Given the description of an element on the screen output the (x, y) to click on. 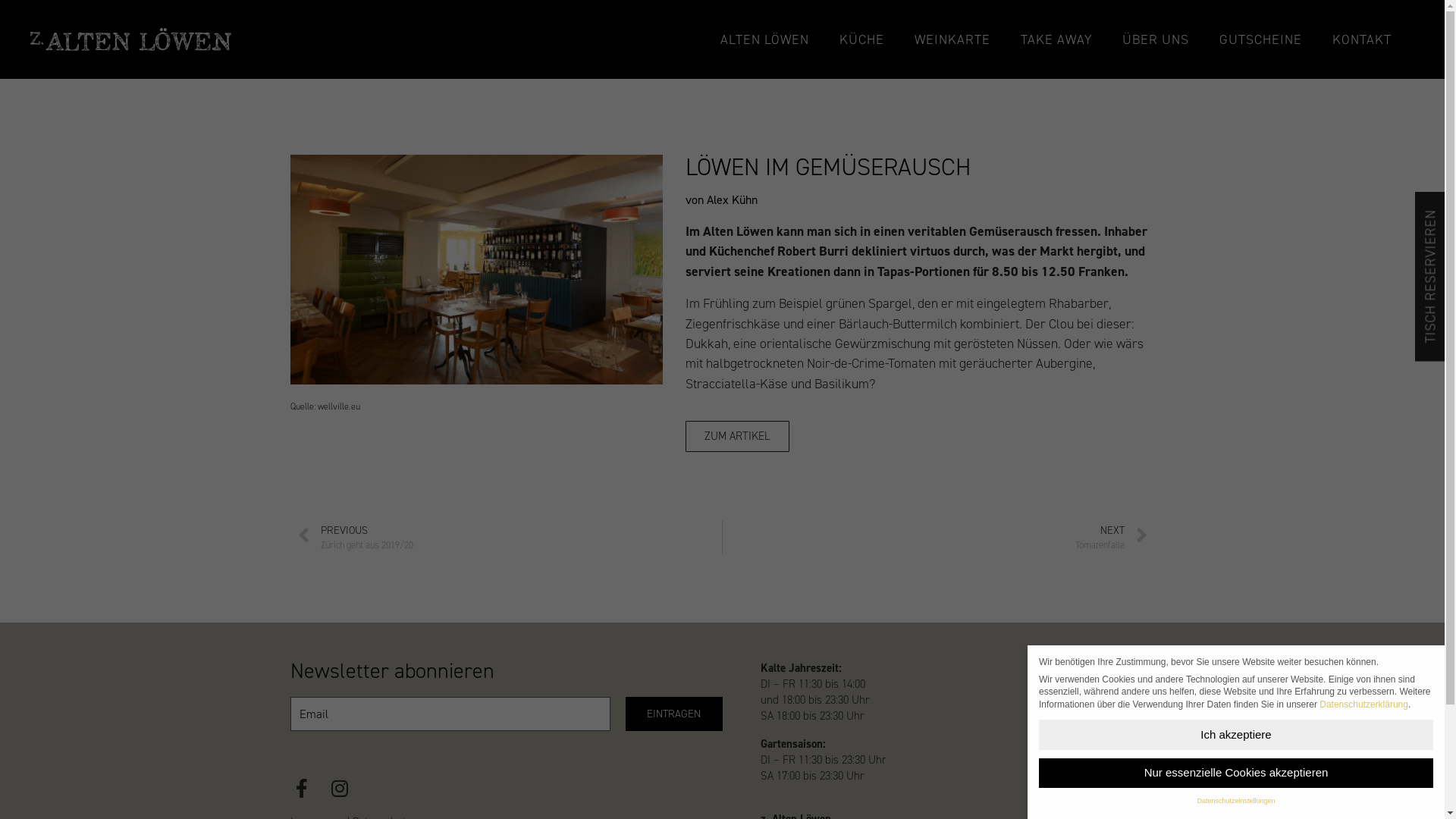
EINTRAGEN Element type: text (673, 713)
TAKE AWAY Element type: text (1056, 39)
WEINKARTE Element type: text (952, 39)
NEXT
Tomatenfalle Element type: text (934, 537)
ZUM ARTIKEL Element type: text (737, 435)
Ich akzeptiere Element type: text (1235, 734)
Nur essenzielle Cookies akzeptieren Element type: text (1235, 772)
KONTAKT Element type: text (1361, 39)
Datenschutzeinstellungen Element type: text (1235, 800)
GUTSCHEINE Element type: text (1260, 39)
